Given the description of an element on the screen output the (x, y) to click on. 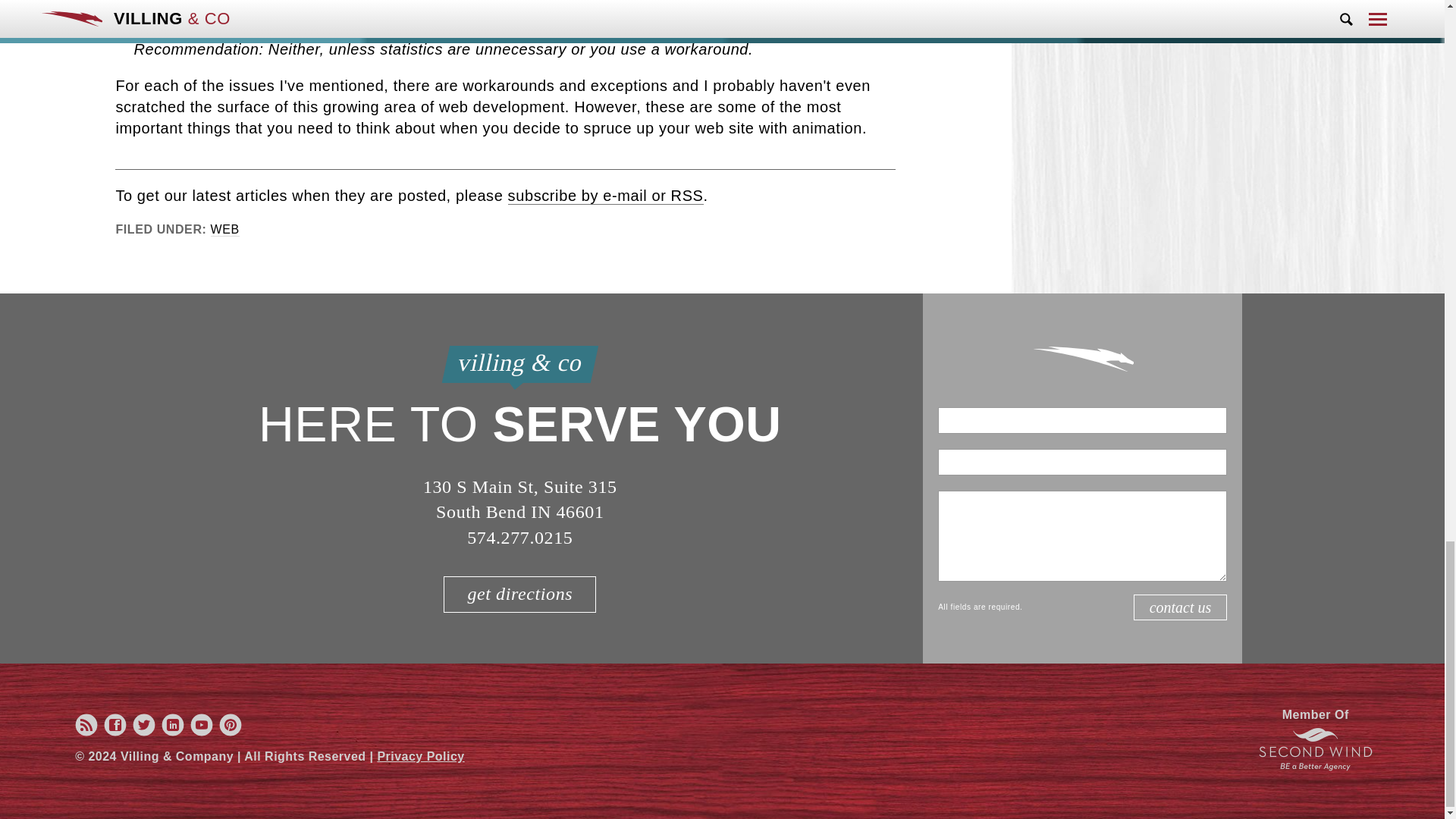
Subscribe to our YouTube channel (201, 732)
Subscribe with RSS (86, 732)
Follow Us on LinkedIn (172, 732)
subscribe by e-mail or RSS (605, 195)
WEB (225, 229)
Like Us on Facebook (115, 732)
Email (1082, 461)
Message (1082, 535)
Follow Us on Pinterest (230, 732)
Name (1082, 420)
contact us (1180, 606)
Follow Us on Twitter (143, 732)
get directions (519, 594)
